Given the description of an element on the screen output the (x, y) to click on. 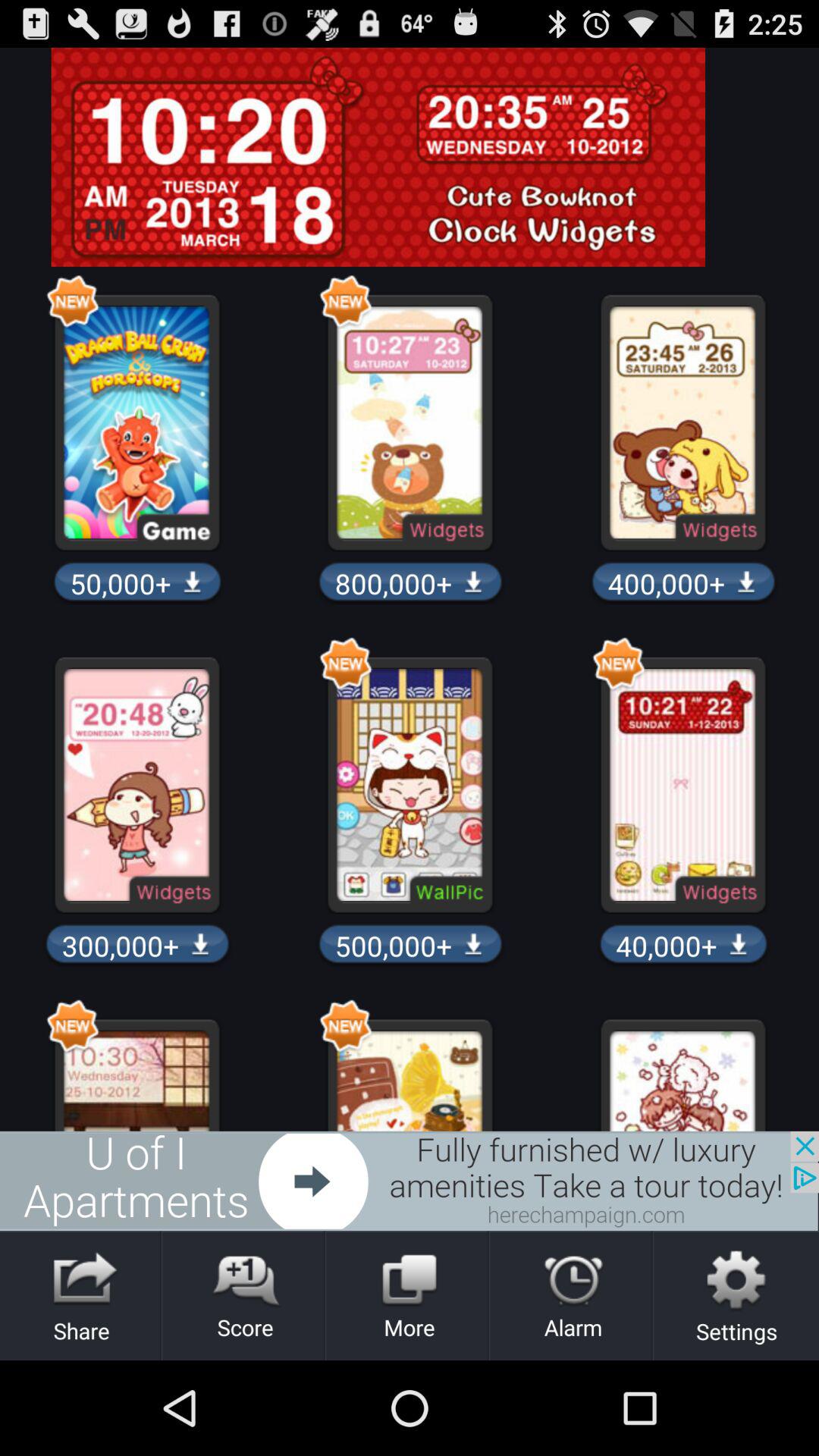
see time (409, 156)
